Given the description of an element on the screen output the (x, y) to click on. 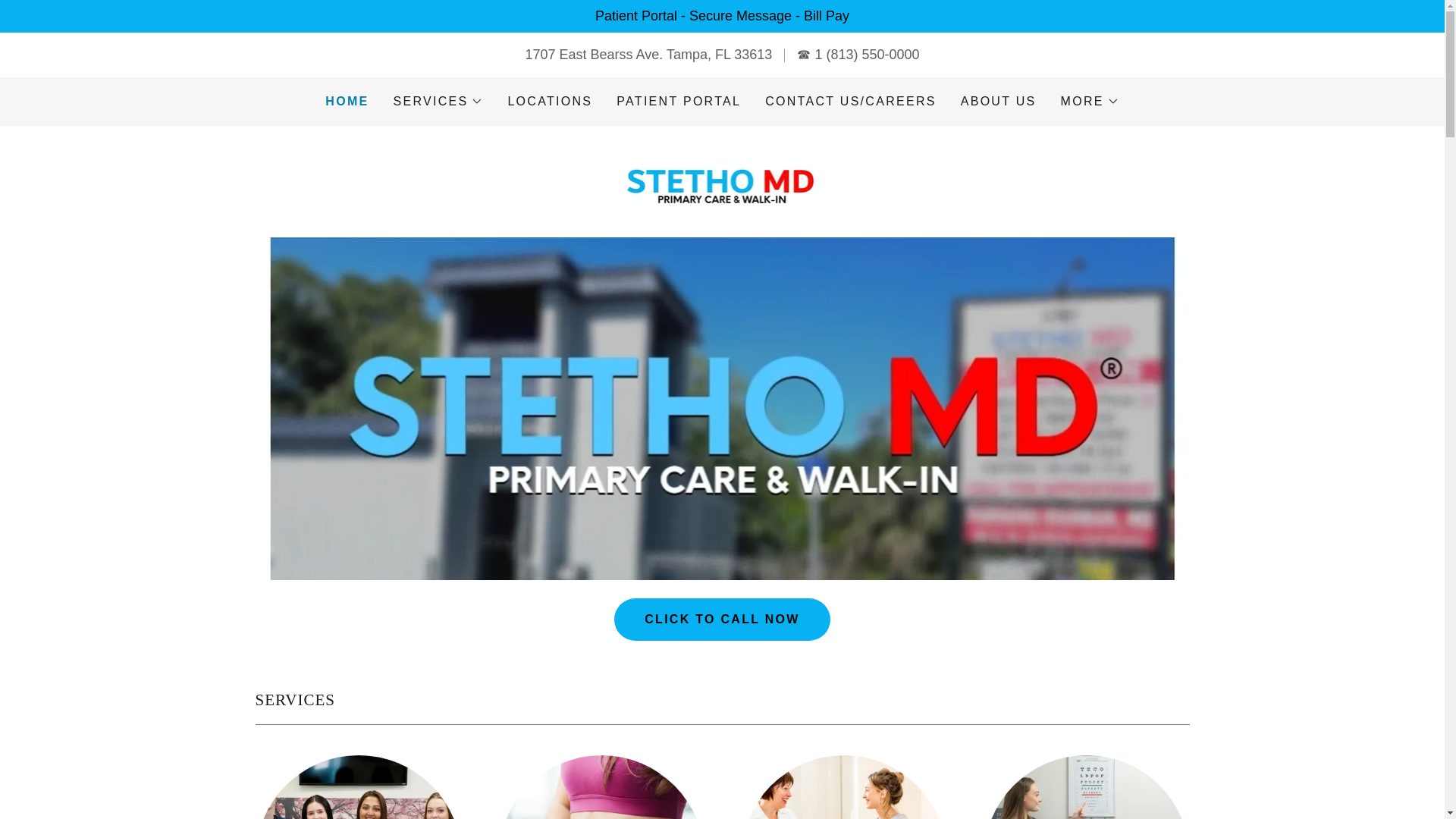
STETHOMD (722, 180)
SERVICES (438, 101)
MORE (1090, 101)
ABOUT US (998, 101)
HOME (346, 101)
LOCATIONS (549, 101)
PATIENT PORTAL (678, 101)
